Given the description of an element on the screen output the (x, y) to click on. 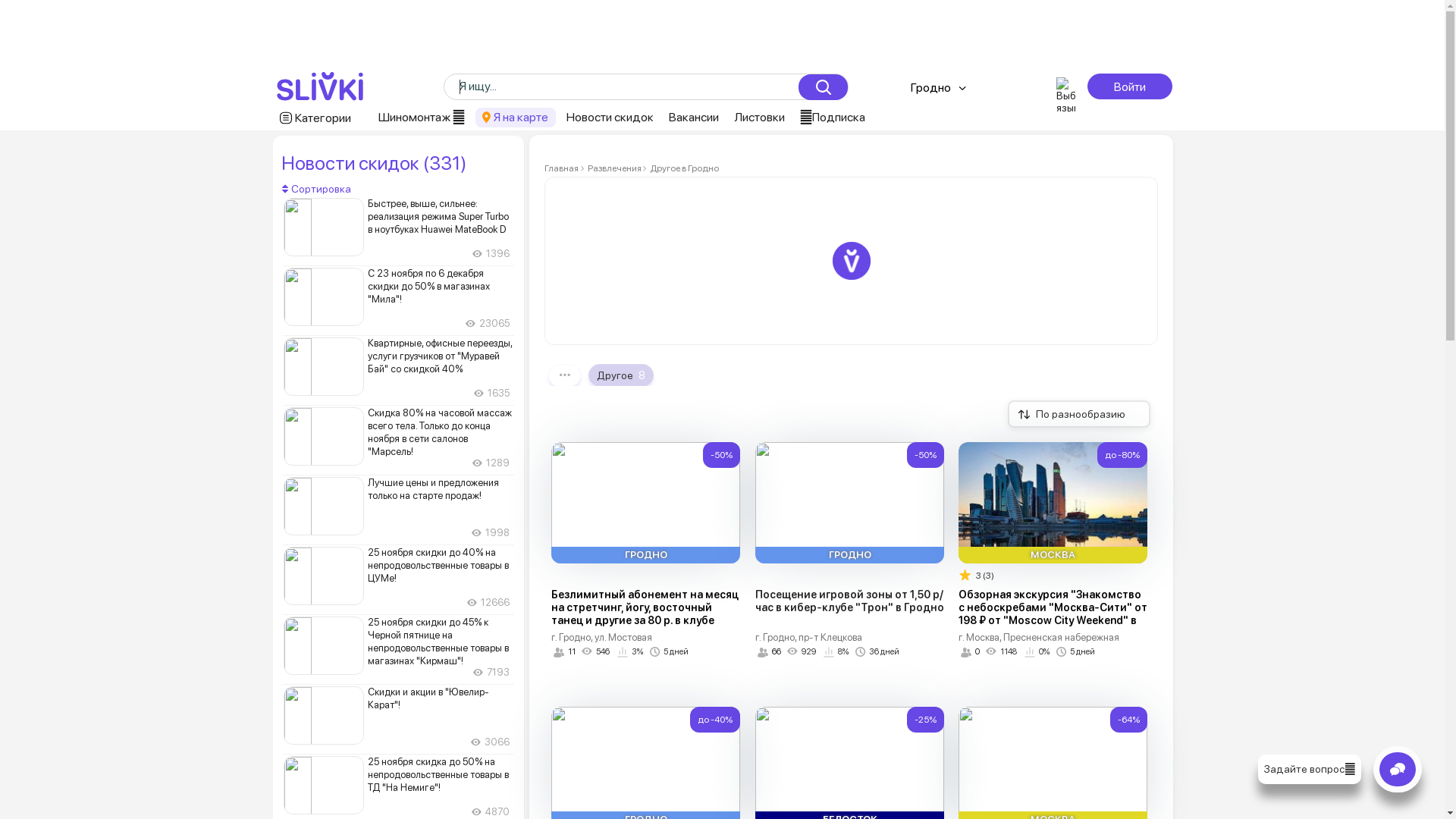
11 Element type: text (564, 651)
  Element type: text (1035, 86)
0 Element type: text (970, 651)
66 Element type: text (769, 651)
